Given the description of an element on the screen output the (x, y) to click on. 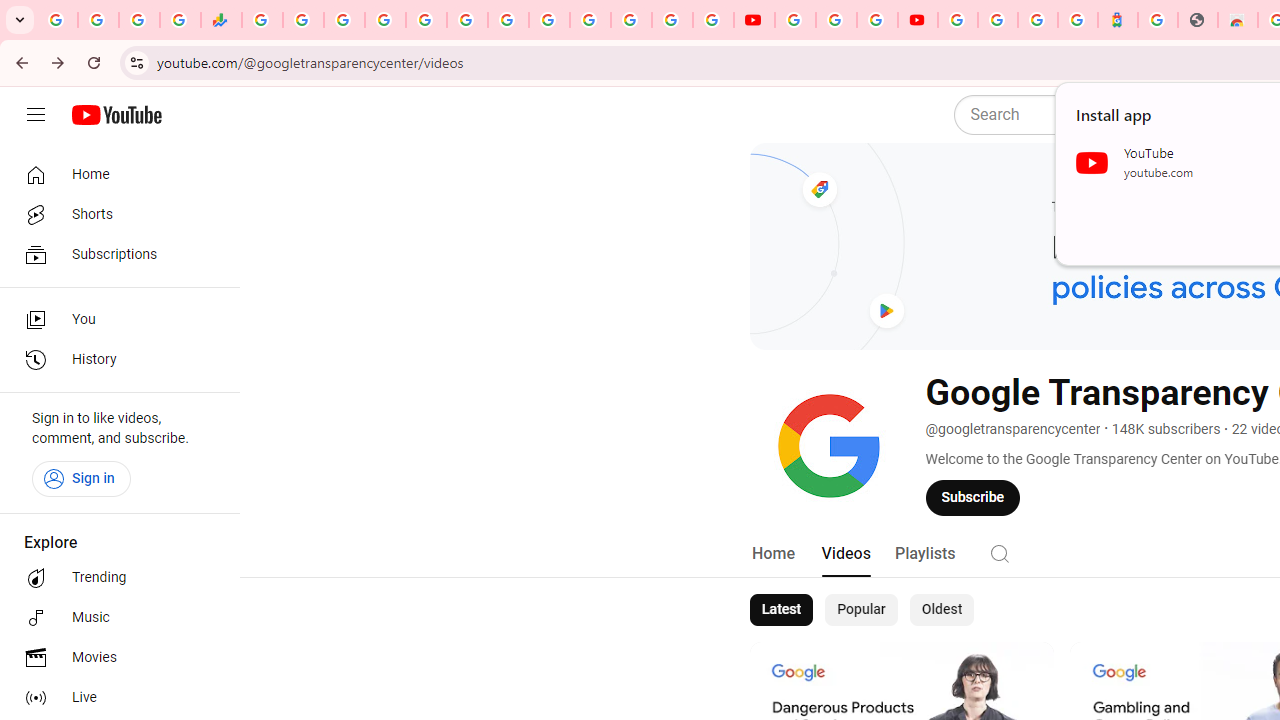
Movies (113, 657)
History (113, 359)
Subscriptions (113, 254)
Shorts (113, 214)
YouTube Home (116, 115)
Playlists (924, 553)
Google Account Help (836, 20)
YouTube (753, 20)
Videos (845, 553)
